Given the description of an element on the screen output the (x, y) to click on. 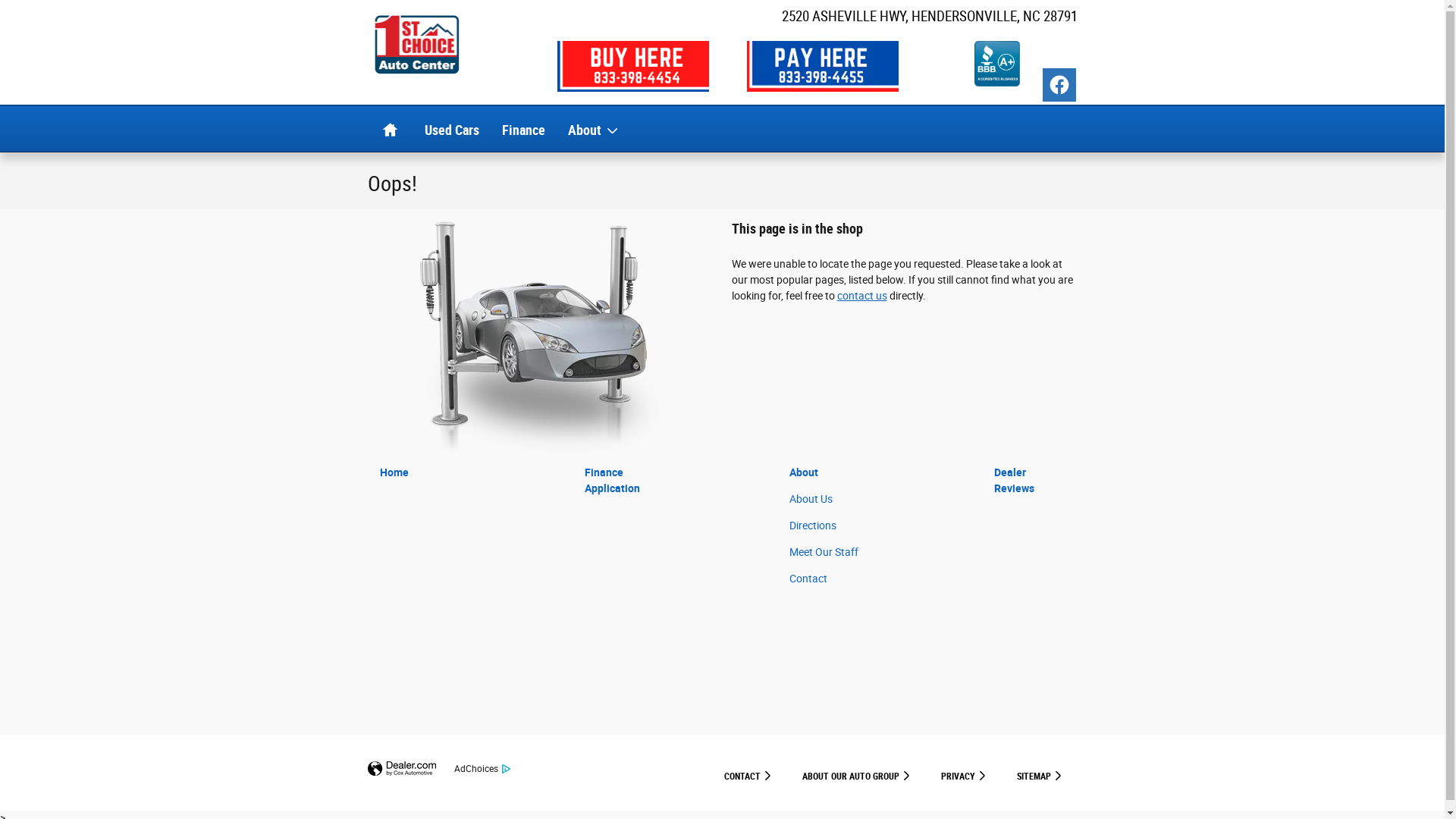
Finance Element type: text (522, 128)
SITEMAP Element type: text (1038, 772)
Dealer Reviews Element type: text (1014, 480)
Home Element type: text (393, 472)
Finance Application Element type: text (612, 480)
CONTACT Element type: text (747, 772)
Contact Element type: text (808, 578)
AdChoices Element type: text (478, 768)
contact us Element type: text (862, 295)
Used Cars Element type: text (450, 128)
ABOUT OUR AUTO GROUP Element type: text (856, 772)
About Element type: text (803, 472)
Website by Dealer.com Element type: text (401, 769)
About Element type: text (593, 128)
Meet Our Staff Element type: text (823, 552)
PRIVACY Element type: text (963, 772)
Skip to main content Element type: text (0, 0)
Directions Element type: text (812, 525)
About Us Element type: text (810, 498)
2520 ASHEVILLE HWY
HENDERSONVILLE, NC 28791 Element type: text (928, 16)
